Given the description of an element on the screen output the (x, y) to click on. 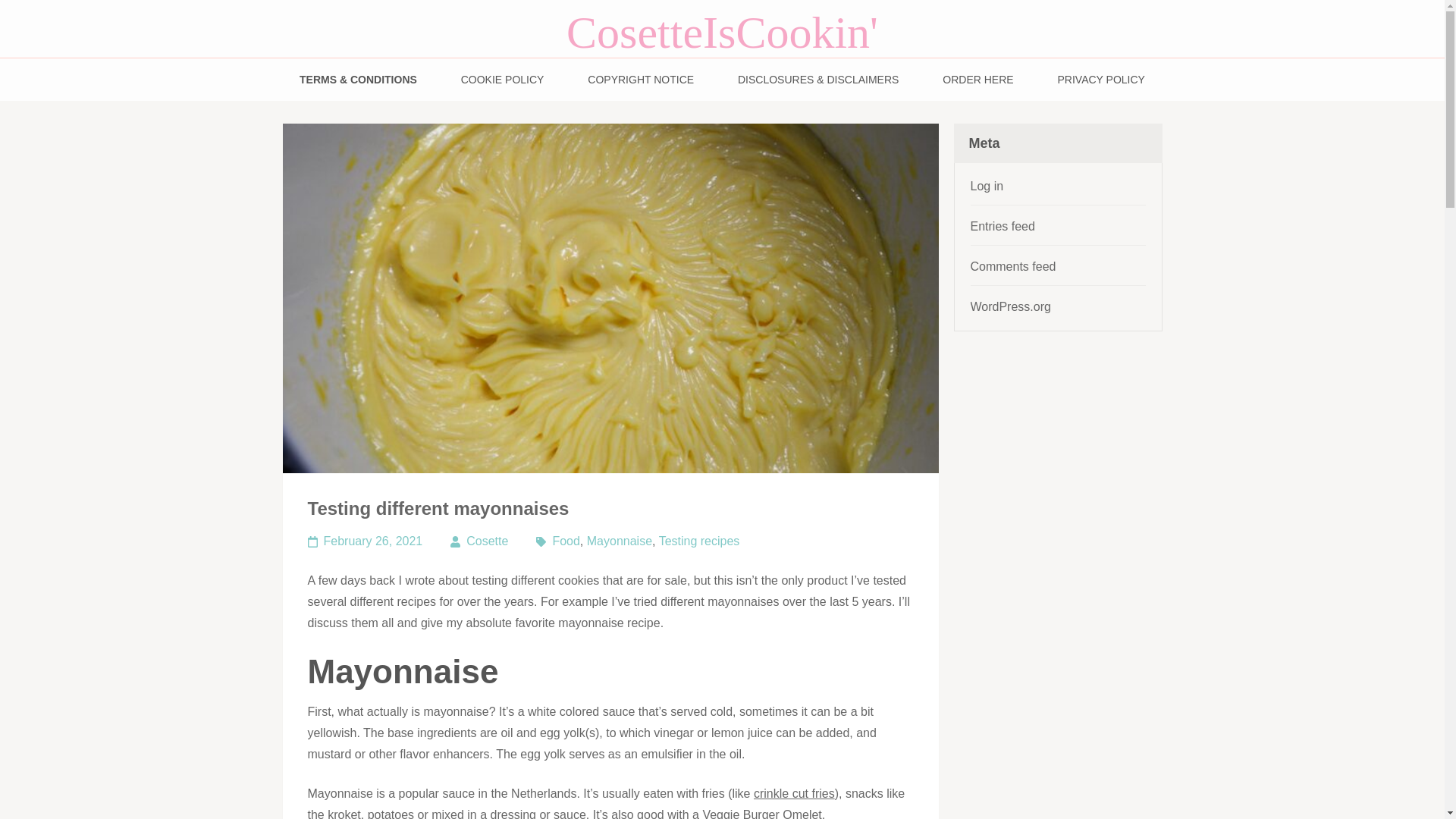
Entries feed (1003, 226)
Mayonnaise (619, 540)
CosetteIsCookin' (721, 32)
ORDER HERE (977, 79)
COOKIE POLICY (502, 79)
Comments feed (1014, 266)
Cosette (478, 540)
PRIVACY POLICY (1101, 79)
Log in (987, 185)
Food (565, 540)
